Given the description of an element on the screen output the (x, y) to click on. 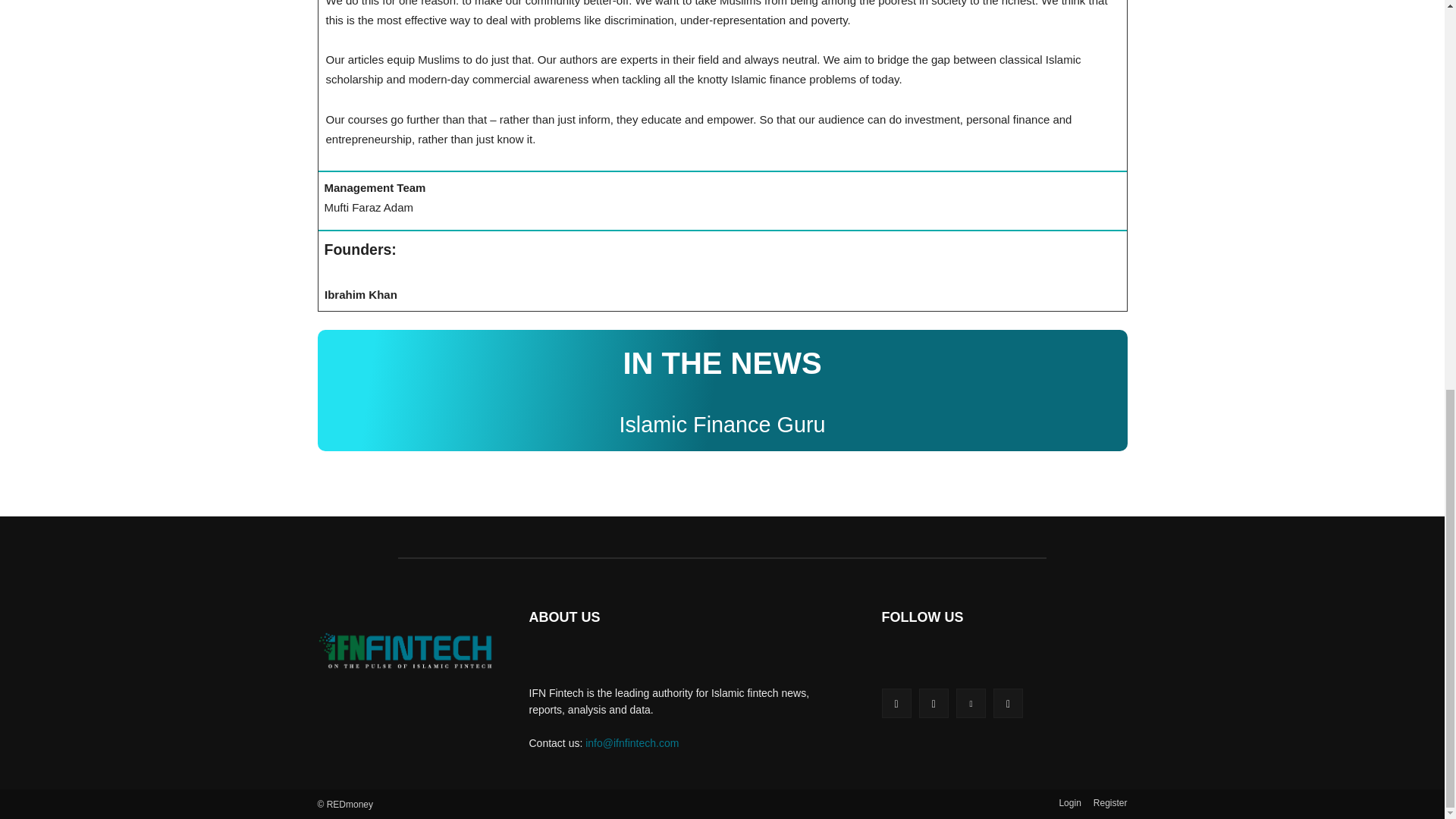
Islamic Finance Guru (721, 424)
Facebook (895, 703)
Instagram (933, 703)
